Given the description of an element on the screen output the (x, y) to click on. 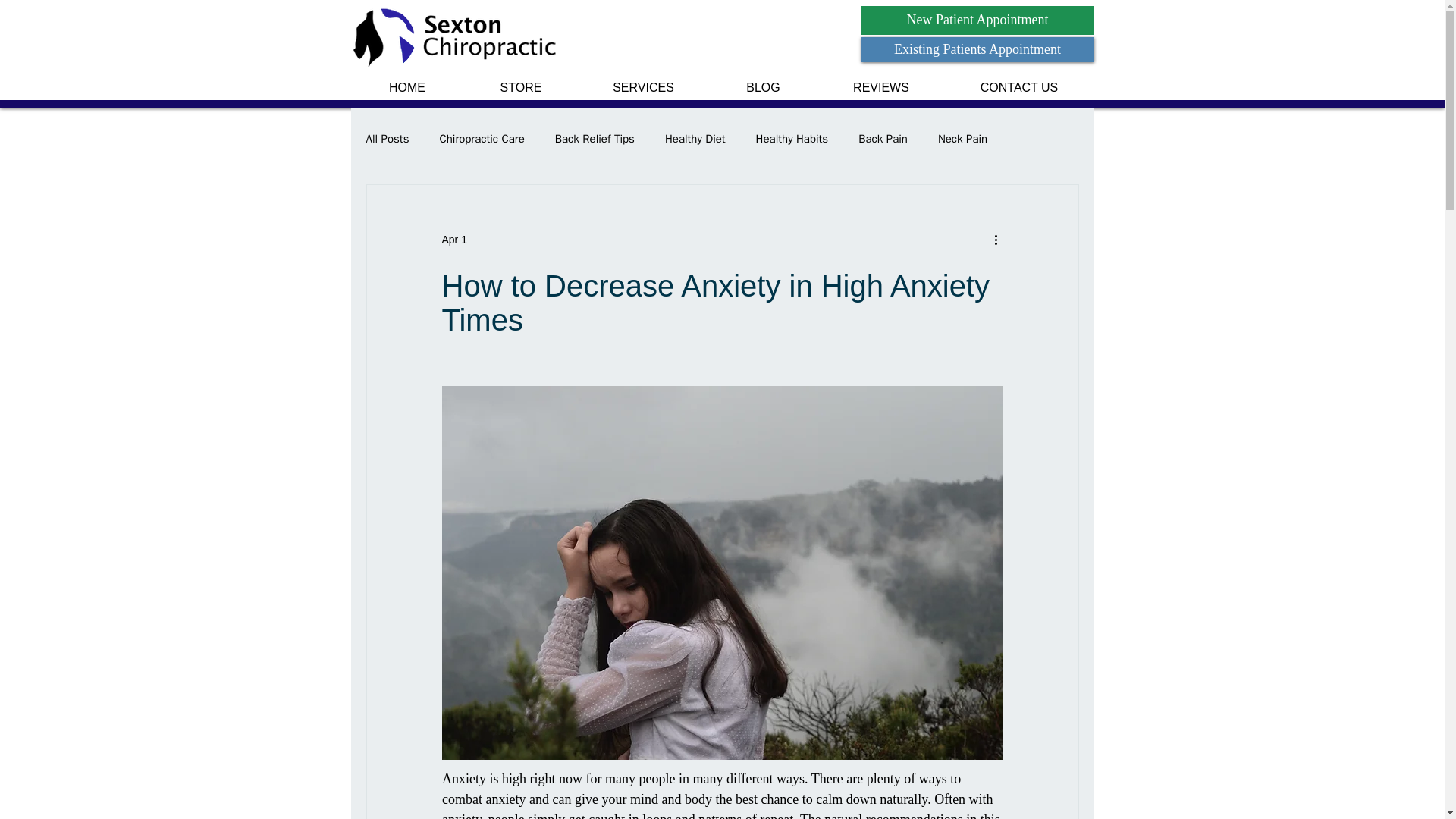
BLOG (761, 87)
Existing Patients Appointment (977, 49)
Back Pain (883, 138)
Healthy Habits (791, 138)
All Posts (387, 138)
New Patient Appointment (977, 20)
Chiropractic Care (481, 138)
STORE (521, 87)
CONTACT US (1019, 87)
Back Relief Tips (594, 138)
